Given the description of an element on the screen output the (x, y) to click on. 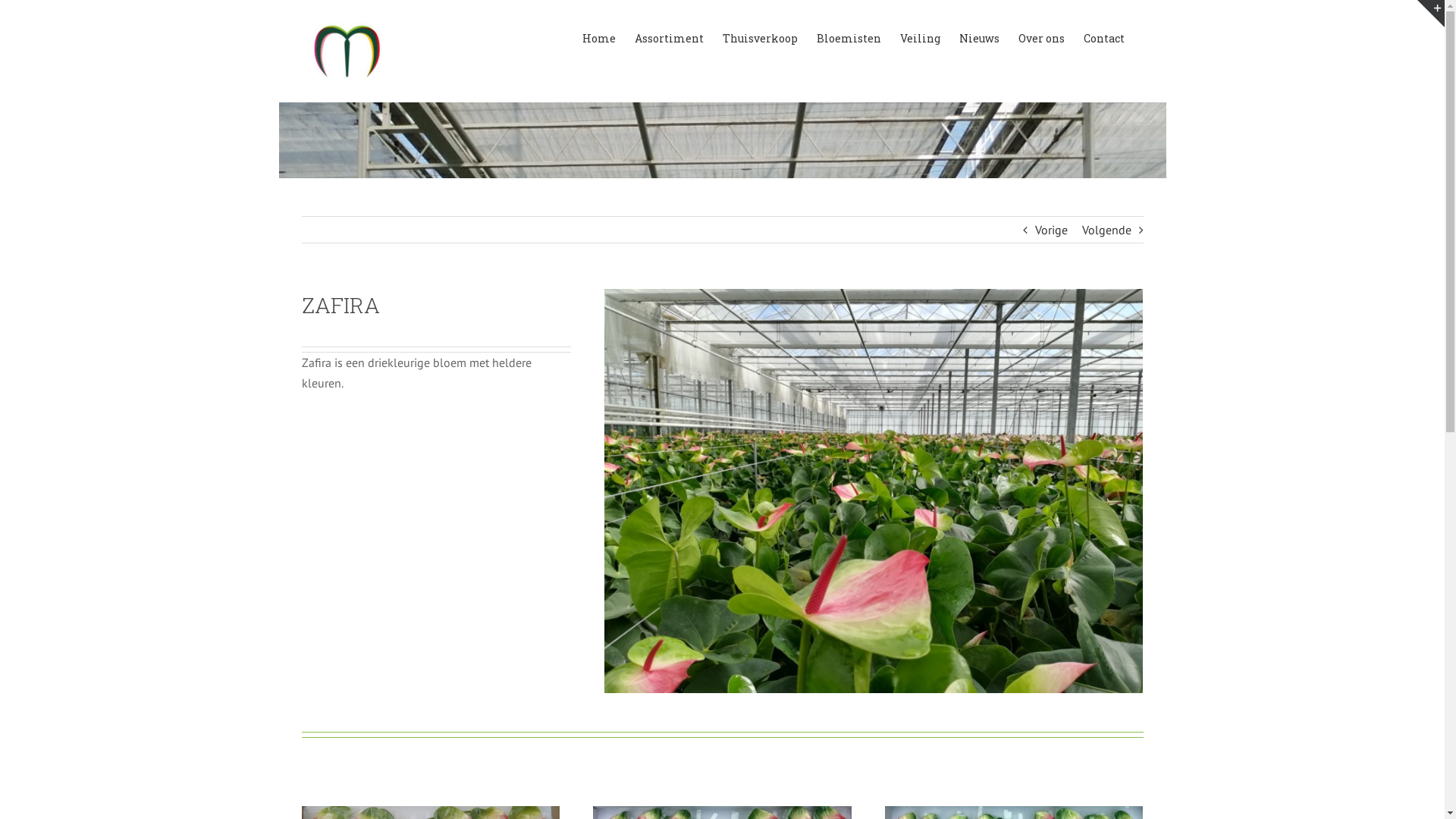
Bloemisten Element type: text (847, 37)
Assortiment Element type: text (667, 37)
Volgende Element type: text (1105, 229)
thumbnail_IMG_20191018_130413_resized_20191024_071011436 Element type: hover (873, 490)
Veiling Element type: text (919, 37)
Over ons Element type: text (1040, 37)
Thuisverkoop Element type: text (759, 37)
Nieuws Element type: text (978, 37)
Contact Element type: text (1102, 37)
Toggle Sliding Bar Area Element type: text (1430, 13)
Vorige Element type: text (1050, 229)
Home Element type: text (598, 37)
